Given the description of an element on the screen output the (x, y) to click on. 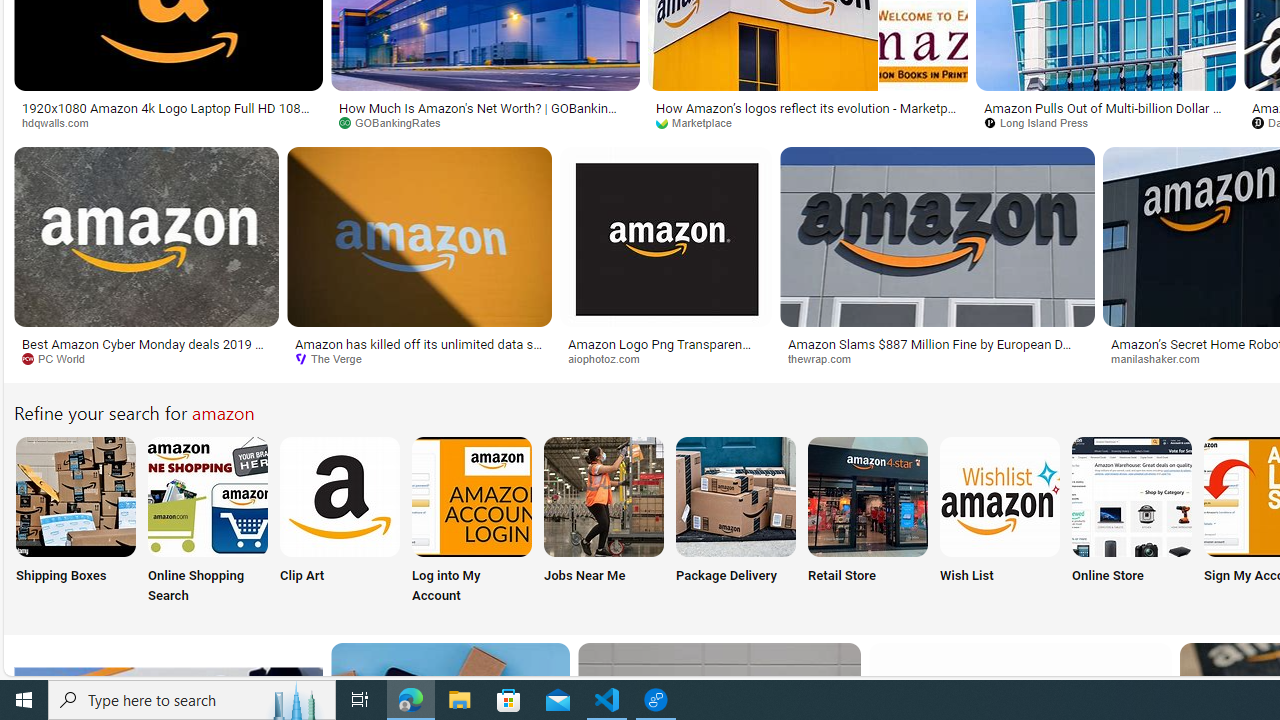
aiophotoz.com (666, 359)
Amazon Retail Store (867, 496)
thewrap.com (937, 359)
Amazon Shipping Boxes Shipping Boxes (75, 521)
The Verge (335, 358)
Online Shopping Search (207, 521)
Amazon Online Shopping Search (207, 496)
